Given the description of an element on the screen output the (x, y) to click on. 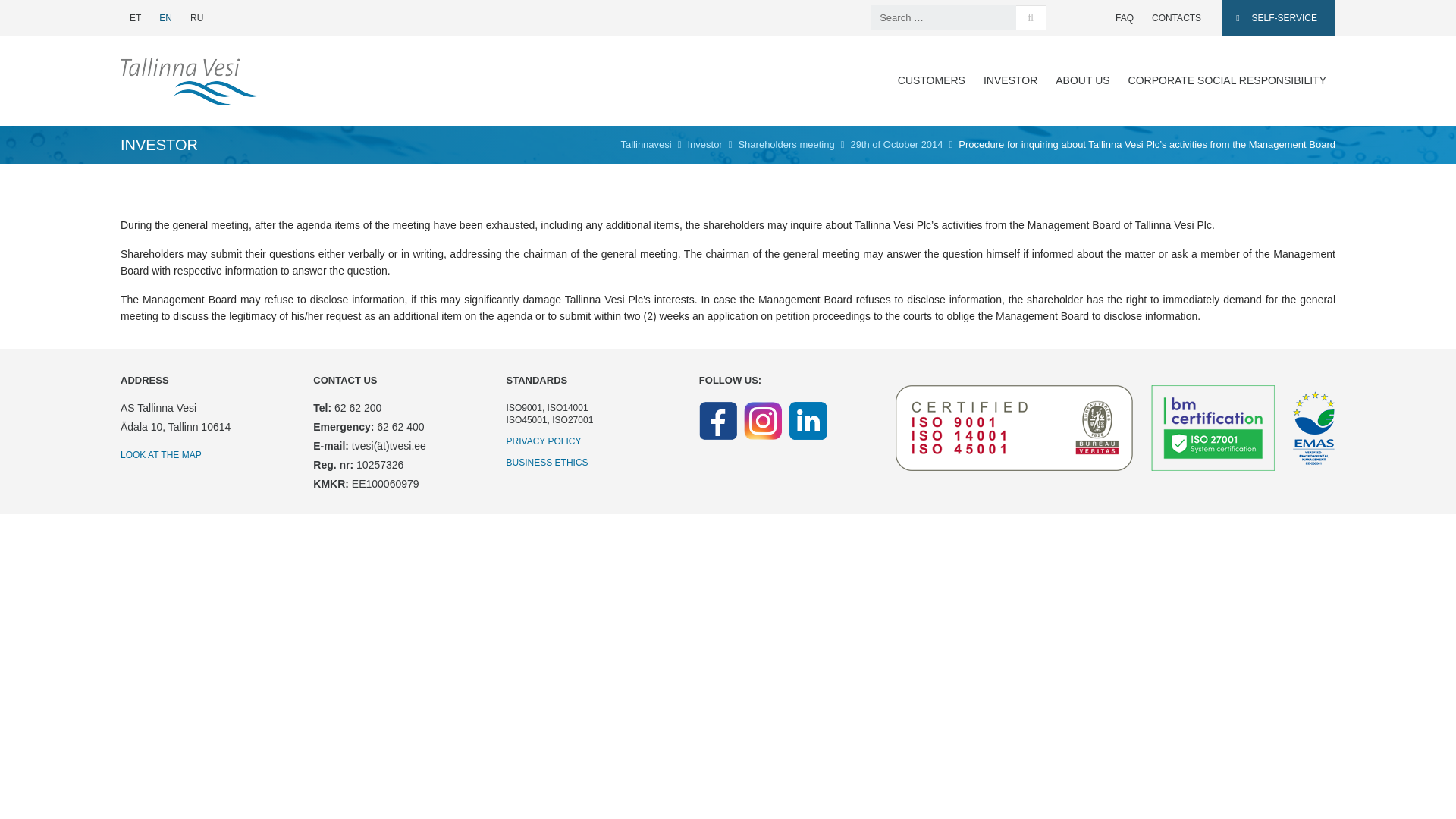
ABOUT US (1082, 80)
SELF-SERVICE (1279, 18)
Search (1029, 17)
INVESTOR (1010, 80)
Mine Shareholders meeting. (786, 143)
CONTACTS (1175, 17)
Mine Tallinnavesi. (645, 143)
Mine 29th of October 2014. (896, 143)
EN (164, 17)
FAQ (1124, 17)
Mine Investor. (704, 143)
CUSTOMERS (931, 80)
ET (134, 17)
RU (196, 17)
